Given the description of an element on the screen output the (x, y) to click on. 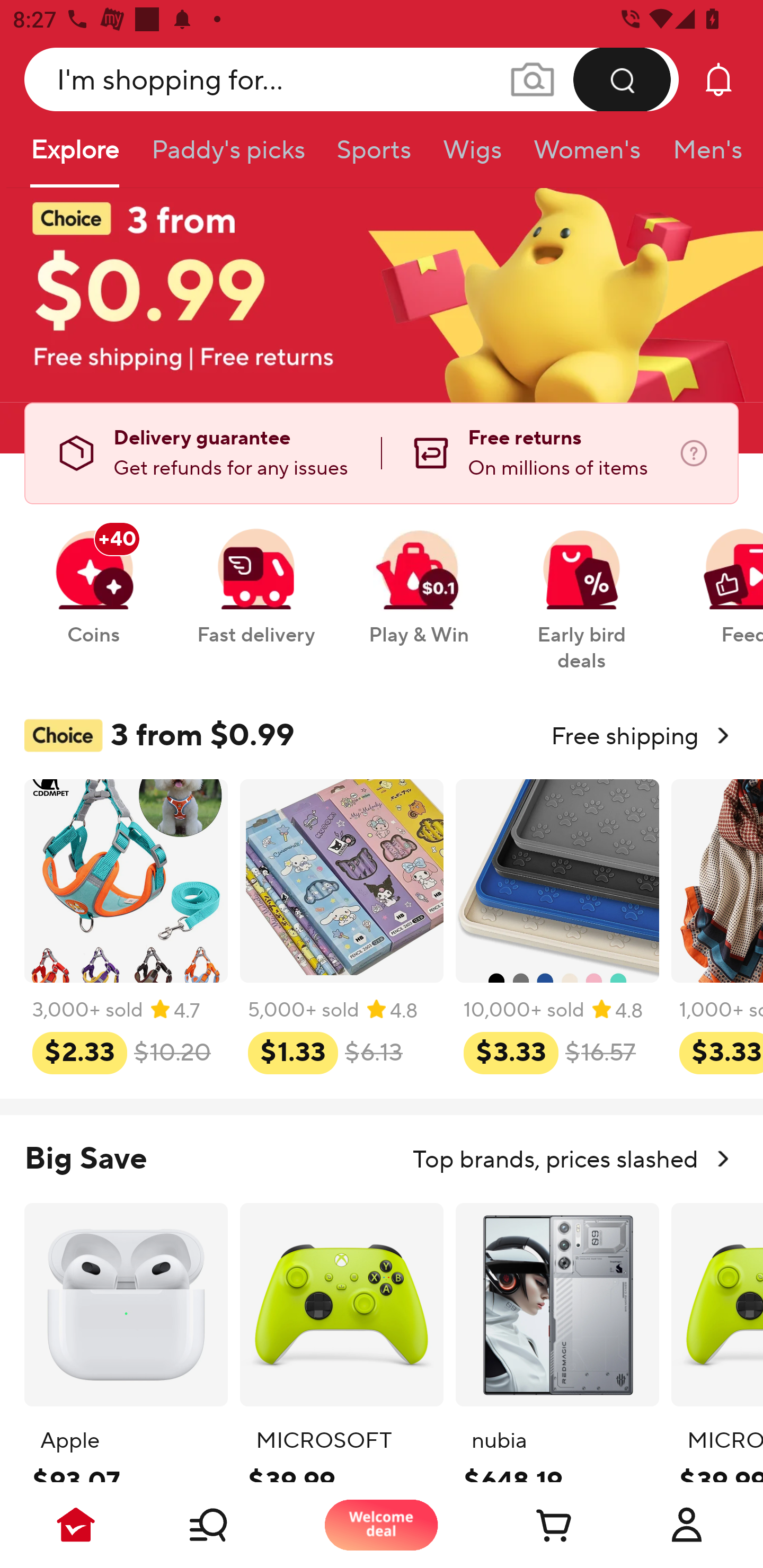
search button (621, 79)
Paddy's picks (227, 155)
Sports (373, 155)
Wigs (472, 155)
Women's (586, 155)
Men's (701, 155)
Coinsbutton +40 Coins (93, 576)
Fast deliverybutton Fast delivery (255, 576)
Play & Winbutton Play & Win (418, 576)
Early bird dealsbutton Early bird deals (581, 589)
Feedbutton Feed (719, 576)
Shop (228, 1524)
Cart (533, 1524)
Account (686, 1524)
